Given the description of an element on the screen output the (x, y) to click on. 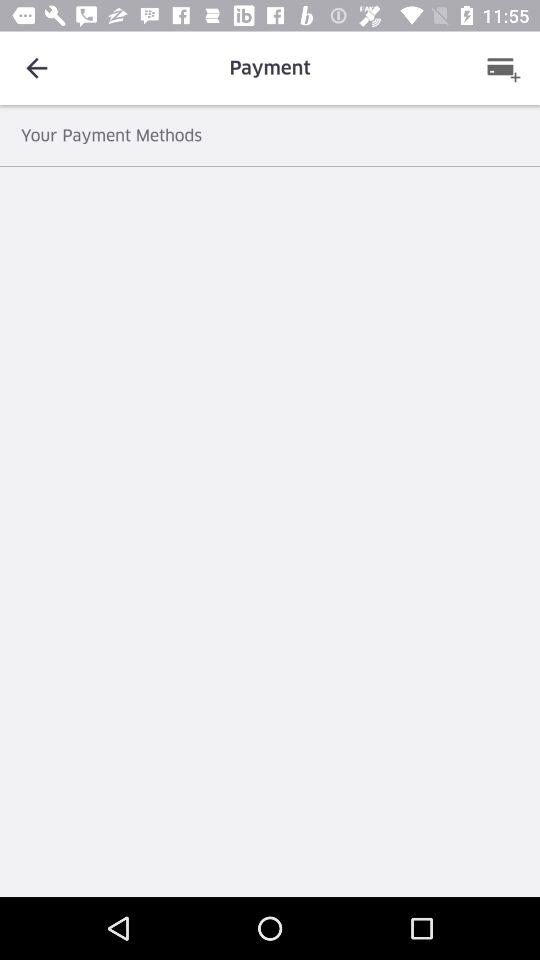
click icon to the right of payment icon (503, 67)
